Given the description of an element on the screen output the (x, y) to click on. 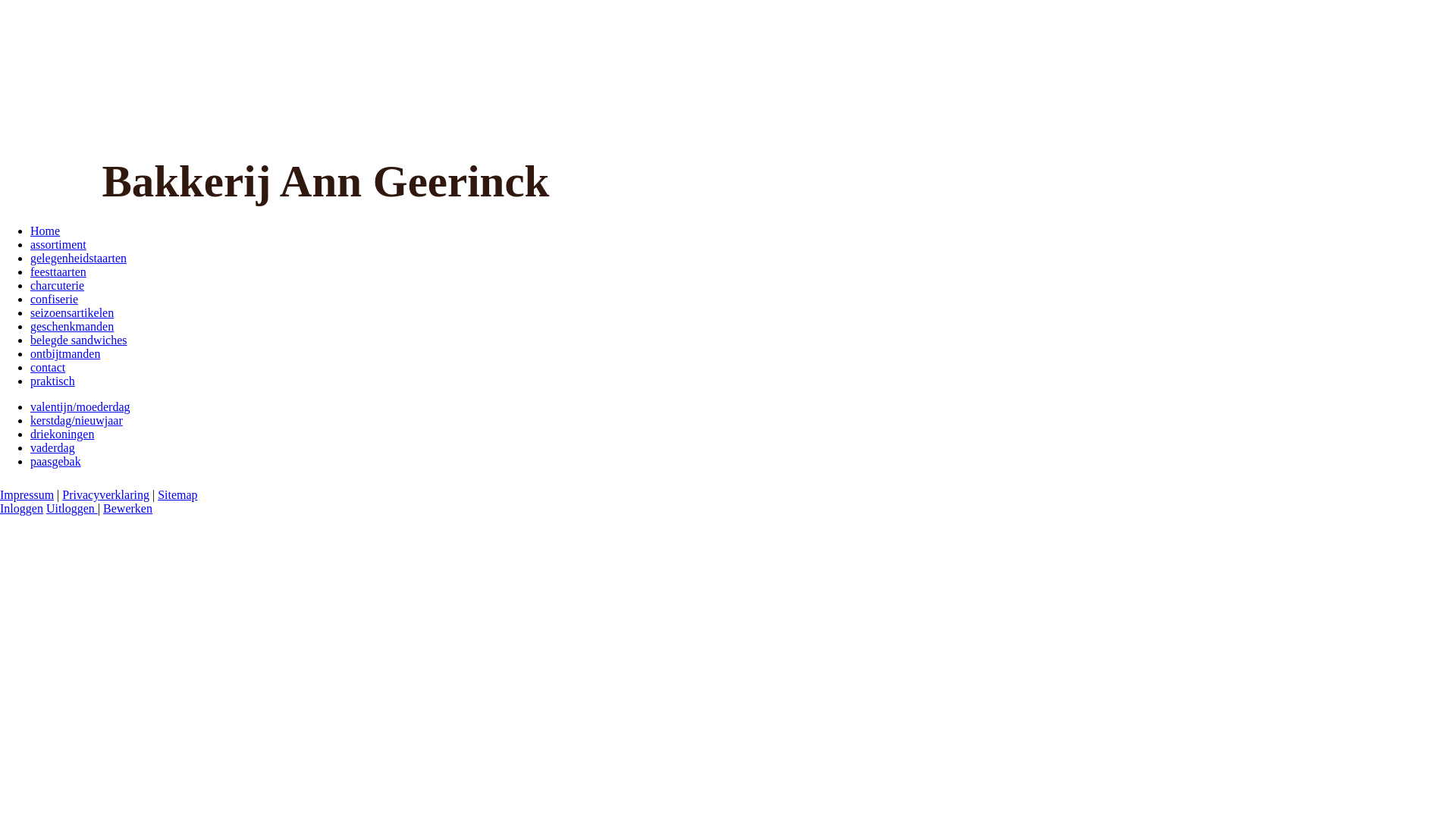
Sitemap Element type: text (177, 494)
Privacyverklaring Element type: text (105, 494)
ontbijtmanden Element type: text (65, 353)
praktisch Element type: text (52, 380)
Home Element type: text (44, 230)
geschenkmanden Element type: text (71, 326)
valentijn/moederdag Element type: text (80, 406)
paasgebak Element type: text (55, 461)
Bewerken Element type: text (127, 508)
belegde sandwiches Element type: text (78, 339)
kerstdag/nieuwjaar Element type: text (76, 420)
confiserie Element type: text (54, 298)
charcuterie Element type: text (57, 285)
driekoningen Element type: text (62, 433)
seizoensartikelen Element type: text (71, 312)
assortiment Element type: text (58, 244)
gelegenheidstaarten Element type: text (78, 257)
vaderdag Element type: text (52, 447)
feesttaarten Element type: text (58, 271)
Inloggen Element type: text (21, 508)
contact Element type: text (47, 366)
Uitloggen Element type: text (71, 508)
Impressum Element type: text (26, 494)
